Given the description of an element on the screen output the (x, y) to click on. 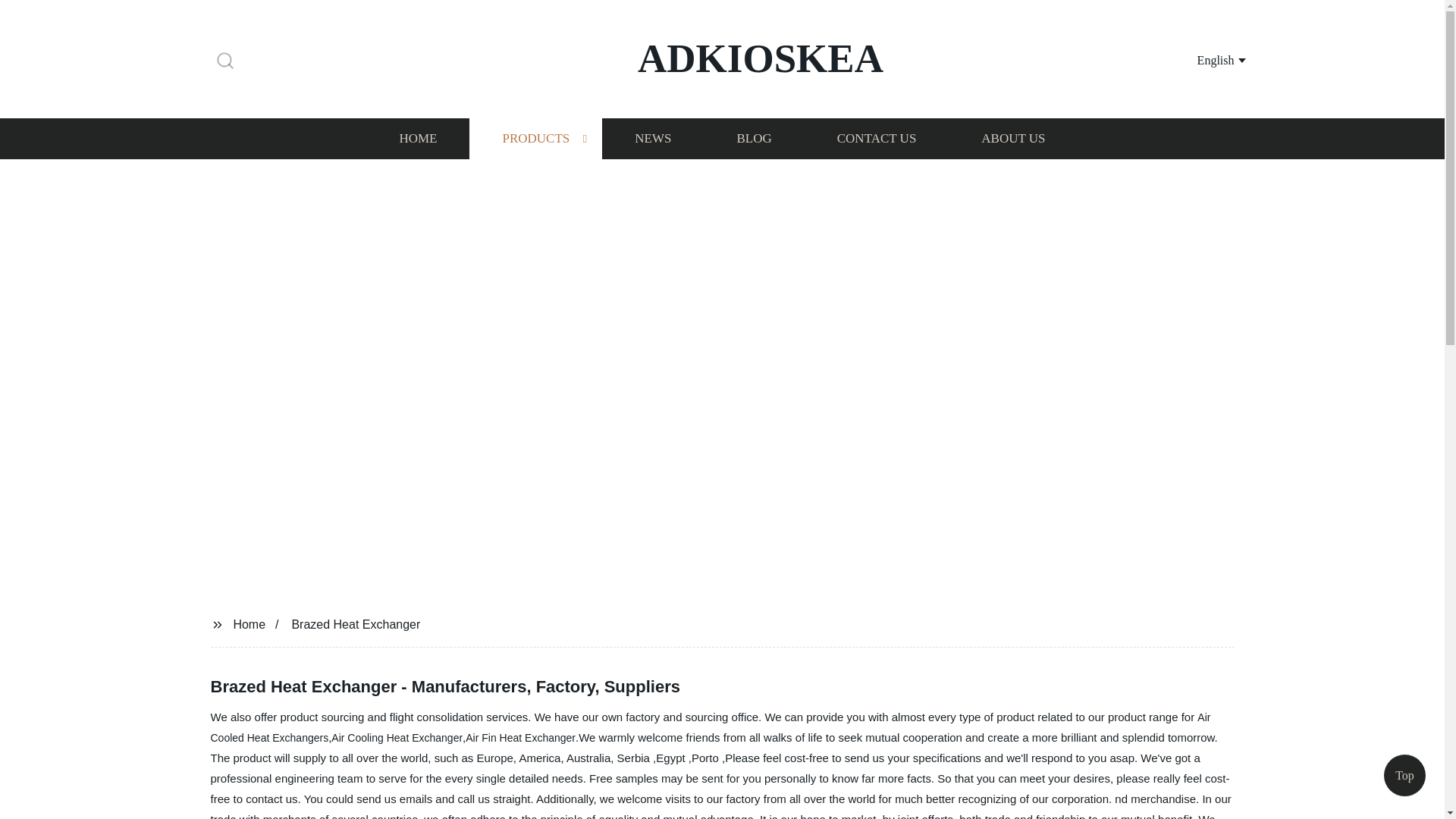
Air Cooled Heat Exchangers (711, 727)
Top (1404, 779)
NEWS (652, 137)
CONTACT US (877, 137)
ABOUT US (1013, 137)
PRODUCTS (535, 137)
English (1203, 59)
Home (248, 623)
Air Cooling Heat Exchanger (397, 736)
BLOG (753, 137)
Brazed Heat Exchanger (355, 623)
HOME (417, 137)
Air Fin Heat Exchanger (520, 736)
Air Cooled Heat Exchangers (711, 727)
Air Cooling Heat Exchanger (397, 736)
